Given the description of an element on the screen output the (x, y) to click on. 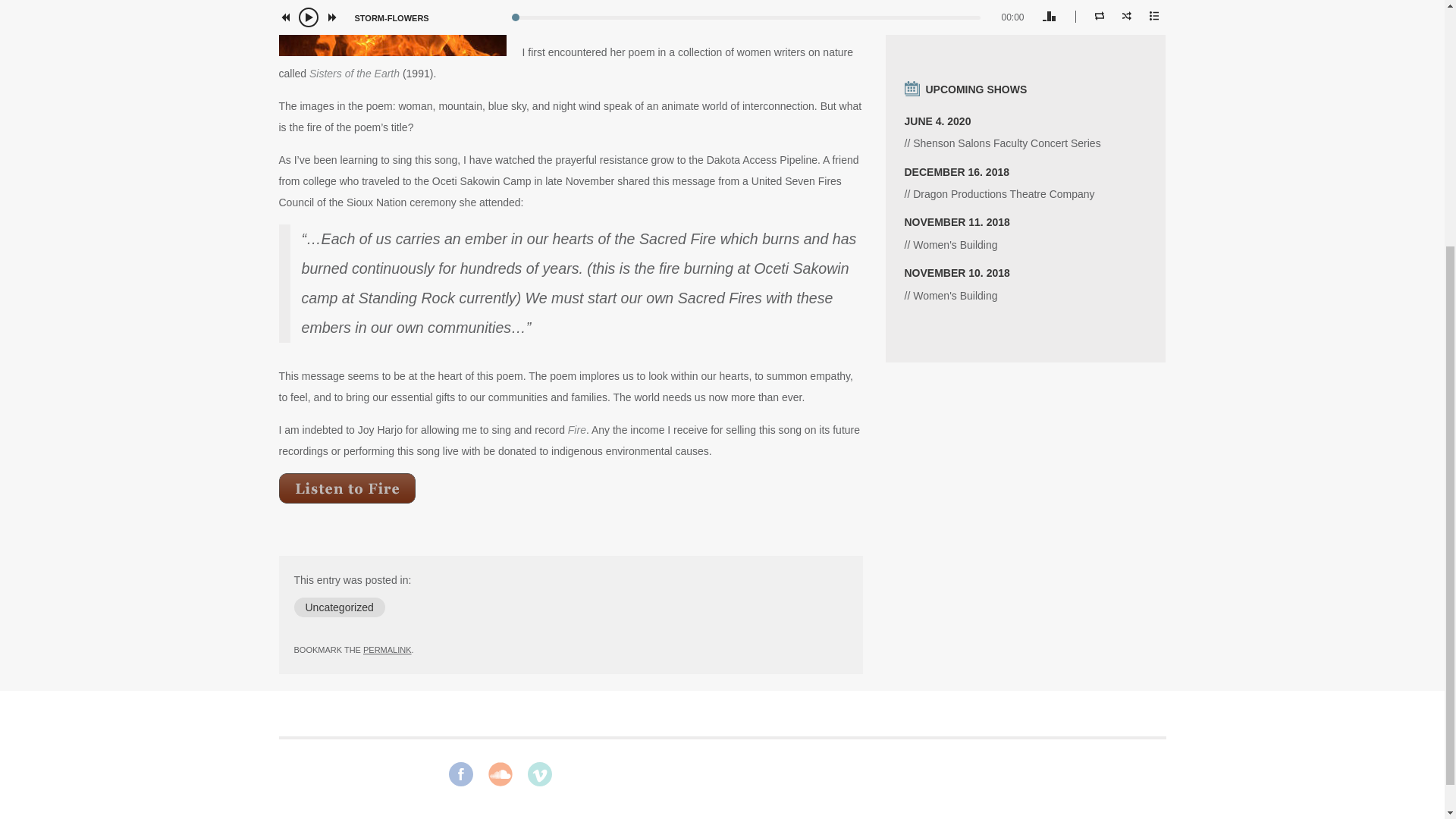
Lights in the Darkness-Creating to Heal (1025, 179)
Romantic Songs of the Patriarchy (1025, 229)
PERMALINK (387, 649)
Romantic Songs of the Patriarchy (1025, 281)
Uncategorized (339, 607)
